Given the description of an element on the screen output the (x, y) to click on. 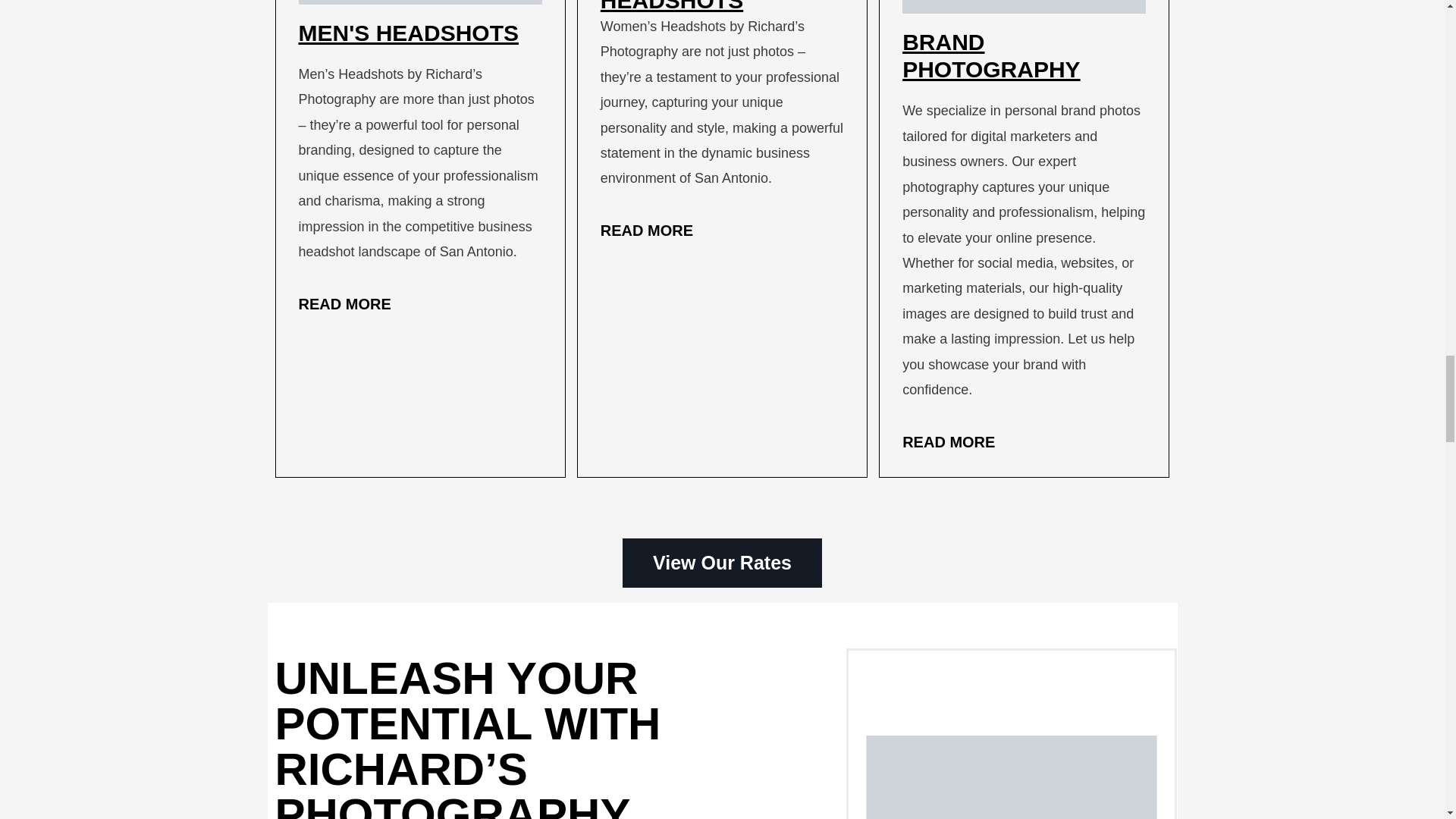
READ MORE (948, 442)
View Our Rates (722, 563)
READ MORE (344, 303)
READ MORE (646, 230)
